Given the description of an element on the screen output the (x, y) to click on. 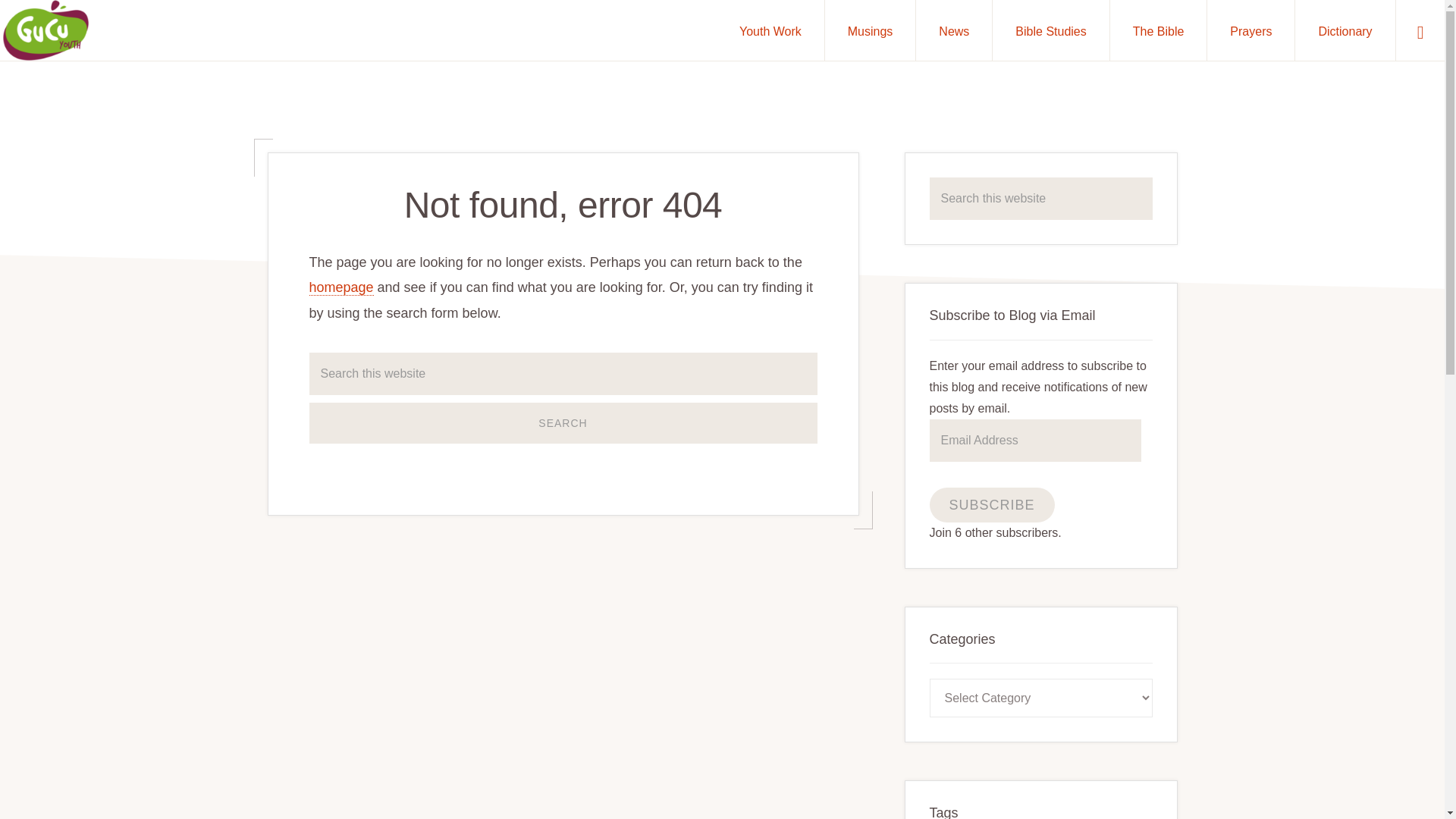
Search (562, 422)
Youth Work (770, 30)
Search (562, 422)
Bible Studies (1050, 30)
News (953, 30)
The Bible (1158, 30)
Prayers (1250, 30)
Musings (870, 30)
